Given the description of an element on the screen output the (x, y) to click on. 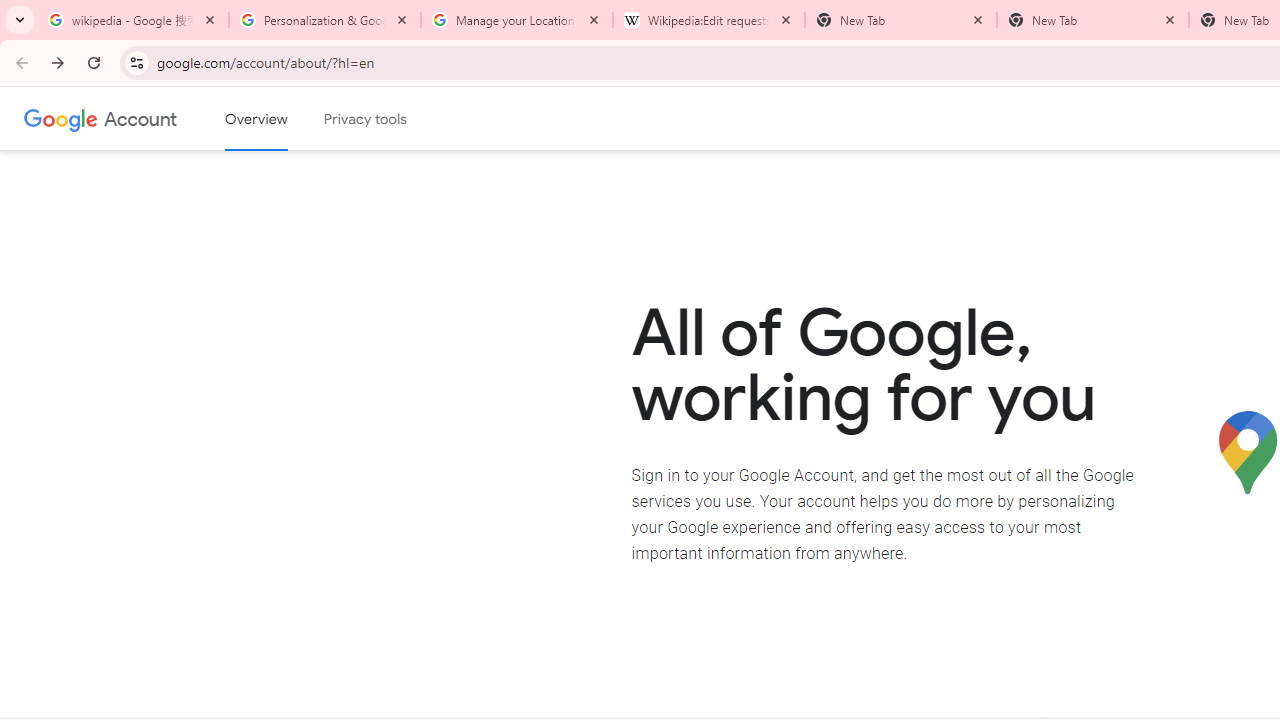
Personalization & Google Search results - Google Search Help (325, 20)
Google Account overview (256, 119)
New Tab (1093, 20)
Google Account (140, 118)
Wikipedia:Edit requests - Wikipedia (709, 20)
Privacy tools (365, 119)
Manage your Location History - Google Search Help (517, 20)
Skip to Content (285, 115)
